Given the description of an element on the screen output the (x, y) to click on. 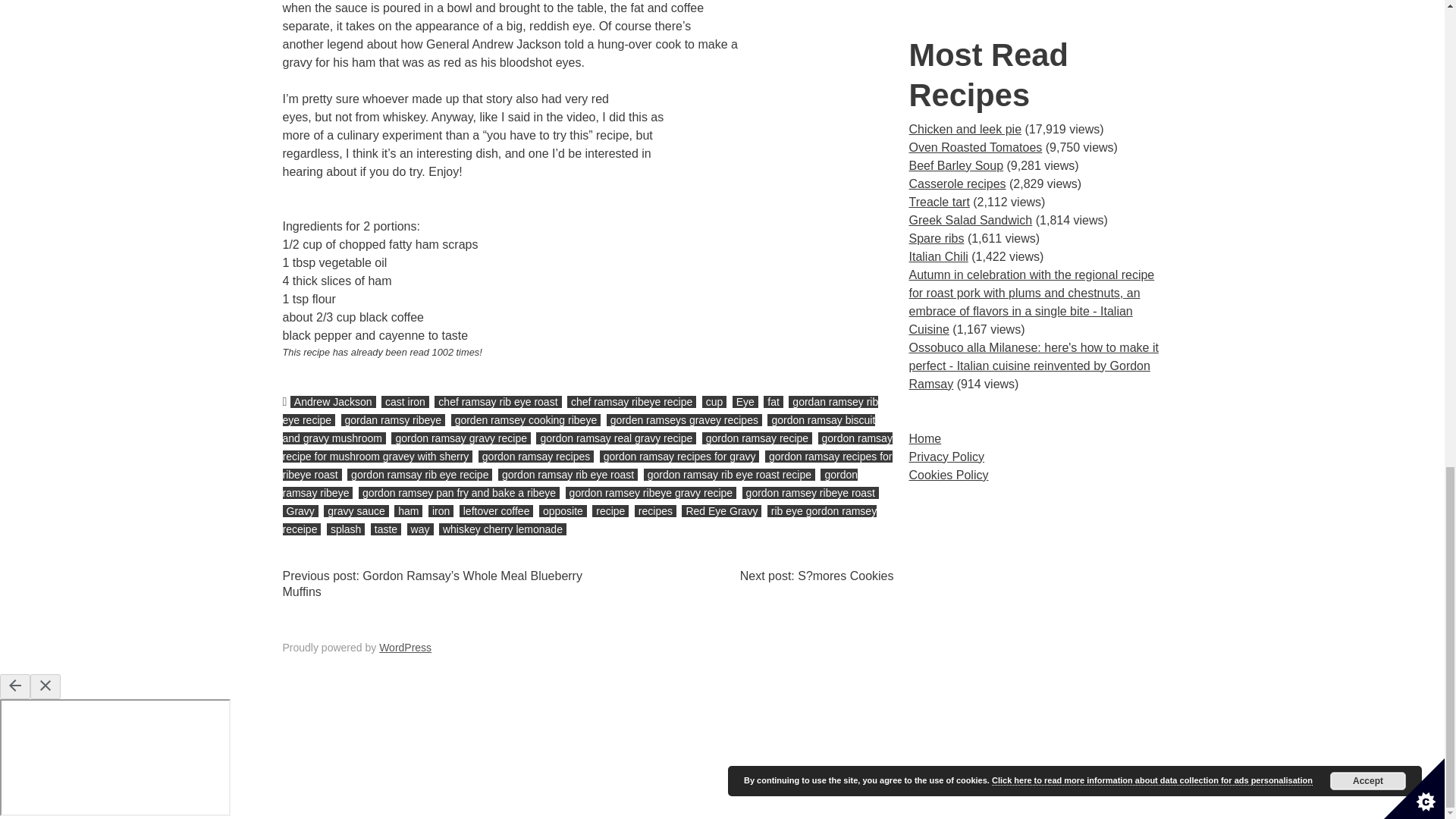
fat (772, 401)
gordon ramsay gravy recipe (461, 438)
cup (713, 401)
Casserole recipes (957, 183)
recipe (610, 510)
gordon ramsay recipe (756, 438)
opposite (562, 510)
gordon ramsay ribeye (569, 483)
gordon ramsay real gravy recipe (615, 438)
iron (440, 510)
gorden ramseys gravey recipes (684, 419)
leftover coffee (497, 510)
gordan ramsy ribeye (392, 419)
Beef Barley Soup (955, 164)
gordon ramsay recipes for gravy (679, 456)
